Given the description of an element on the screen output the (x, y) to click on. 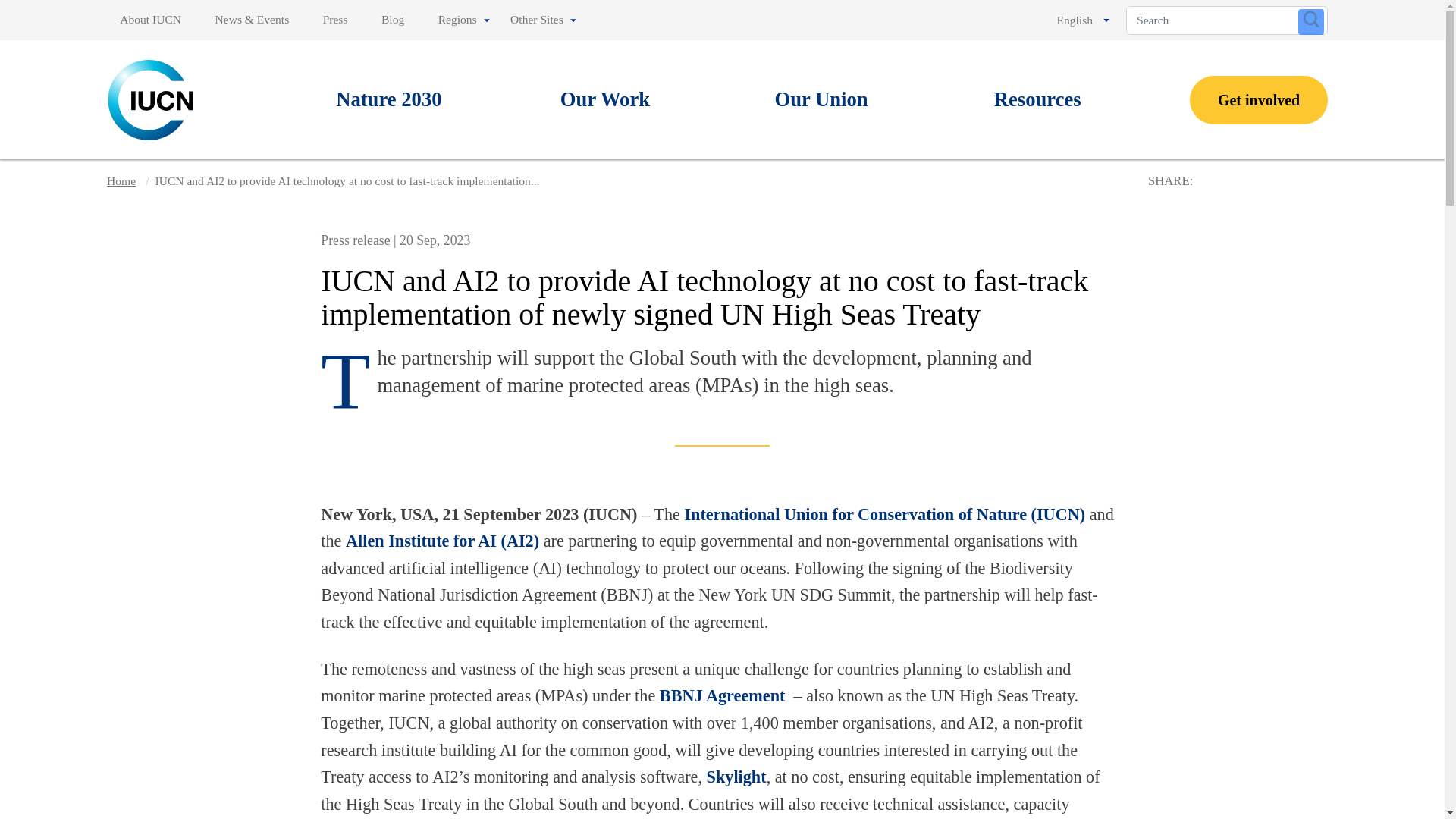
Press (334, 20)
Blog (393, 20)
About IUCN (152, 20)
Nature 2030 (389, 99)
Home (151, 99)
